Given the description of an element on the screen output the (x, y) to click on. 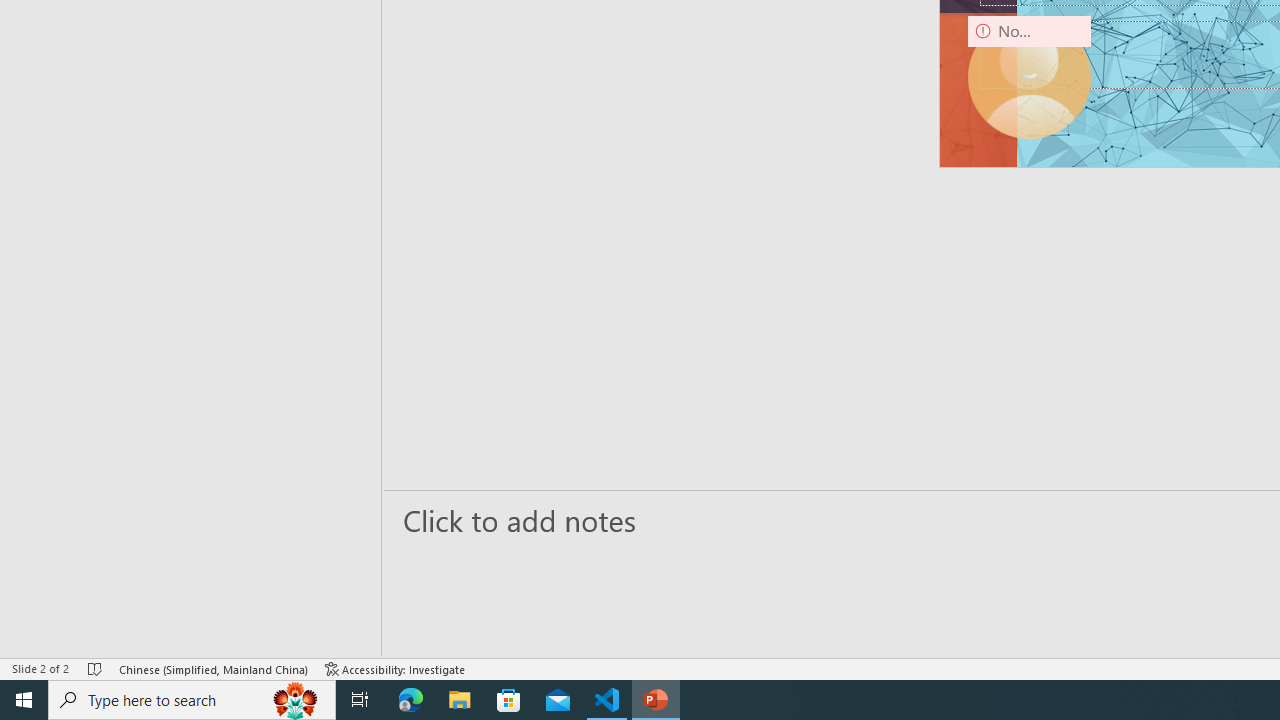
Camera 9, No camera detected. (1029, 77)
